Given the description of an element on the screen output the (x, y) to click on. 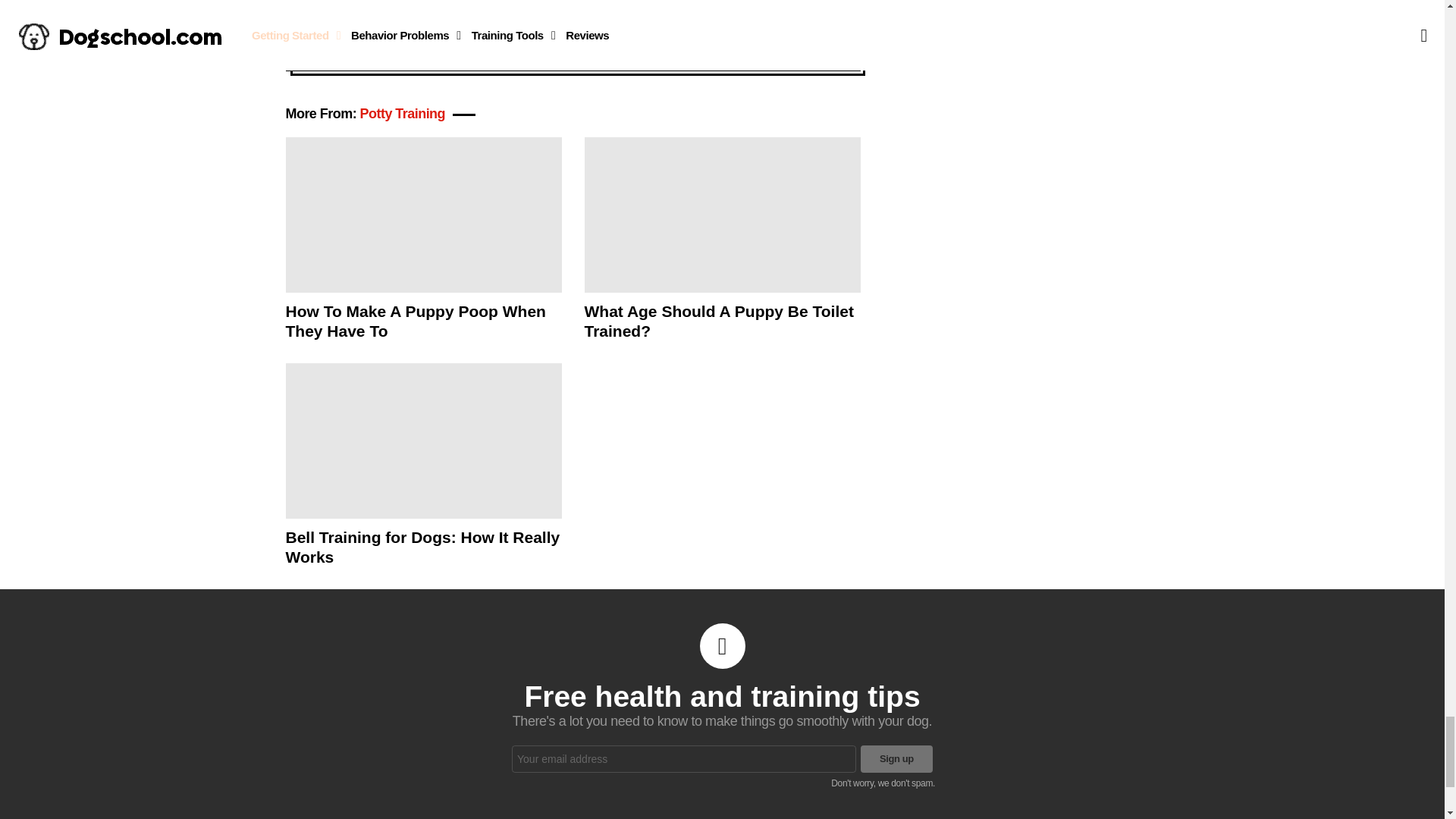
Sign up (896, 759)
Sign up (747, 13)
